Given the description of an element on the screen output the (x, y) to click on. 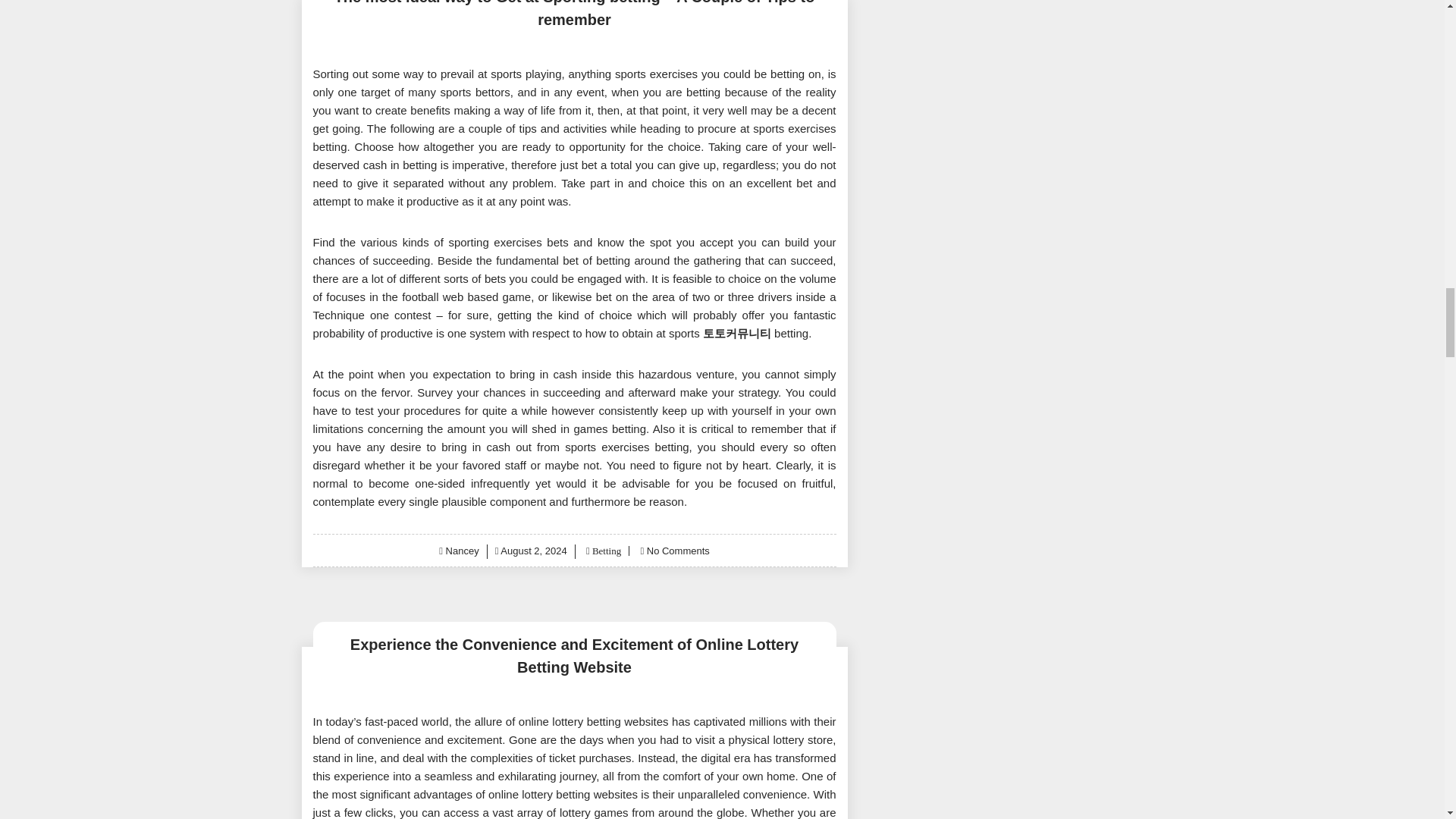
No Comments (678, 550)
Nancey (462, 550)
Betting (605, 550)
August 2, 2024 (533, 550)
